Given the description of an element on the screen output the (x, y) to click on. 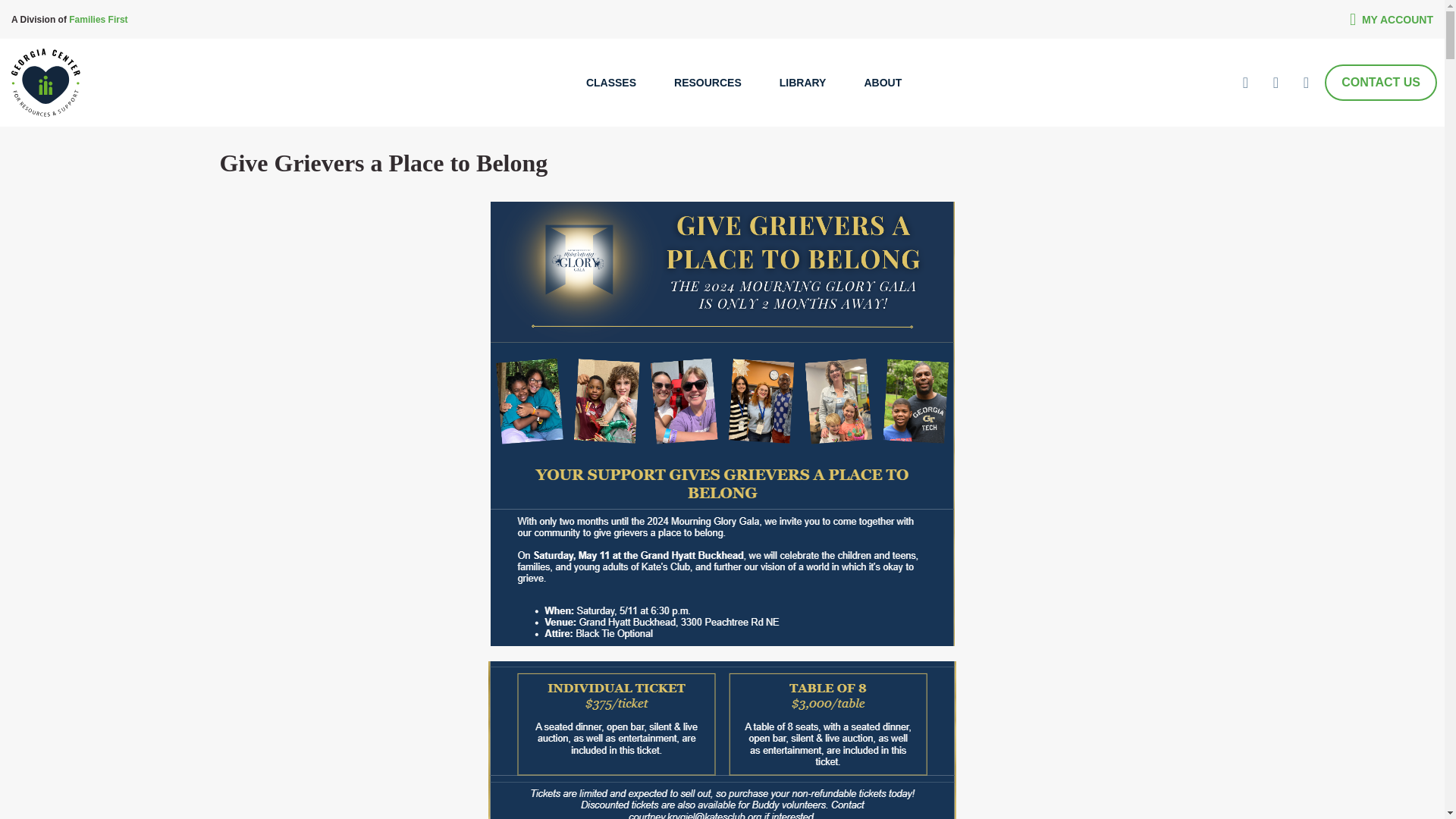
LIBRARY (802, 82)
Families First (98, 18)
  MY ACCOUNT (1391, 18)
Give Grievers a Place to Belong (383, 162)
CLASSES (611, 82)
RESOURCES (707, 82)
